Given the description of an element on the screen output the (x, y) to click on. 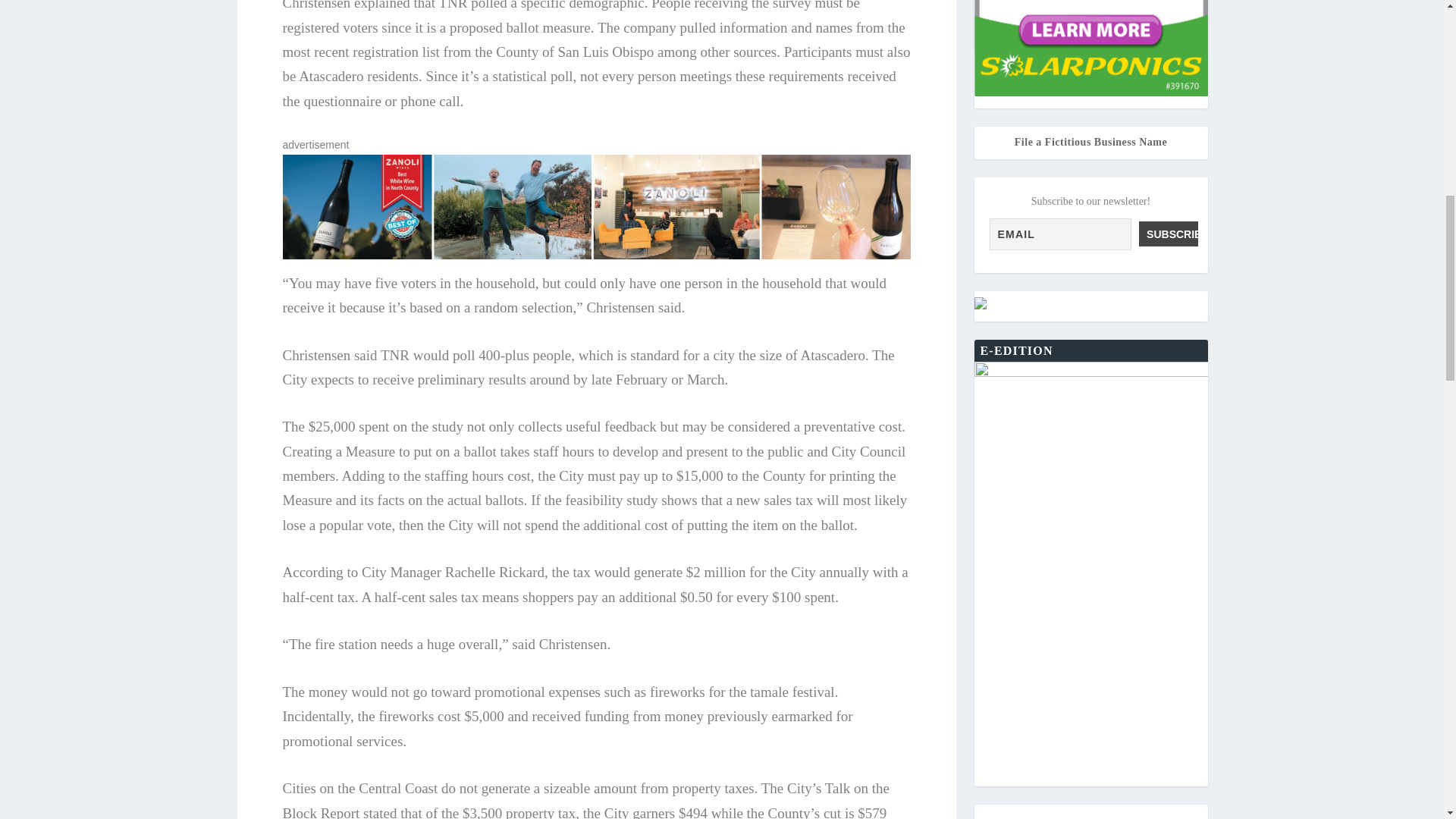
Subscribe (1168, 233)
File a Fictitious Business Name (1090, 142)
Subscribe (1168, 233)
